Given the description of an element on the screen output the (x, y) to click on. 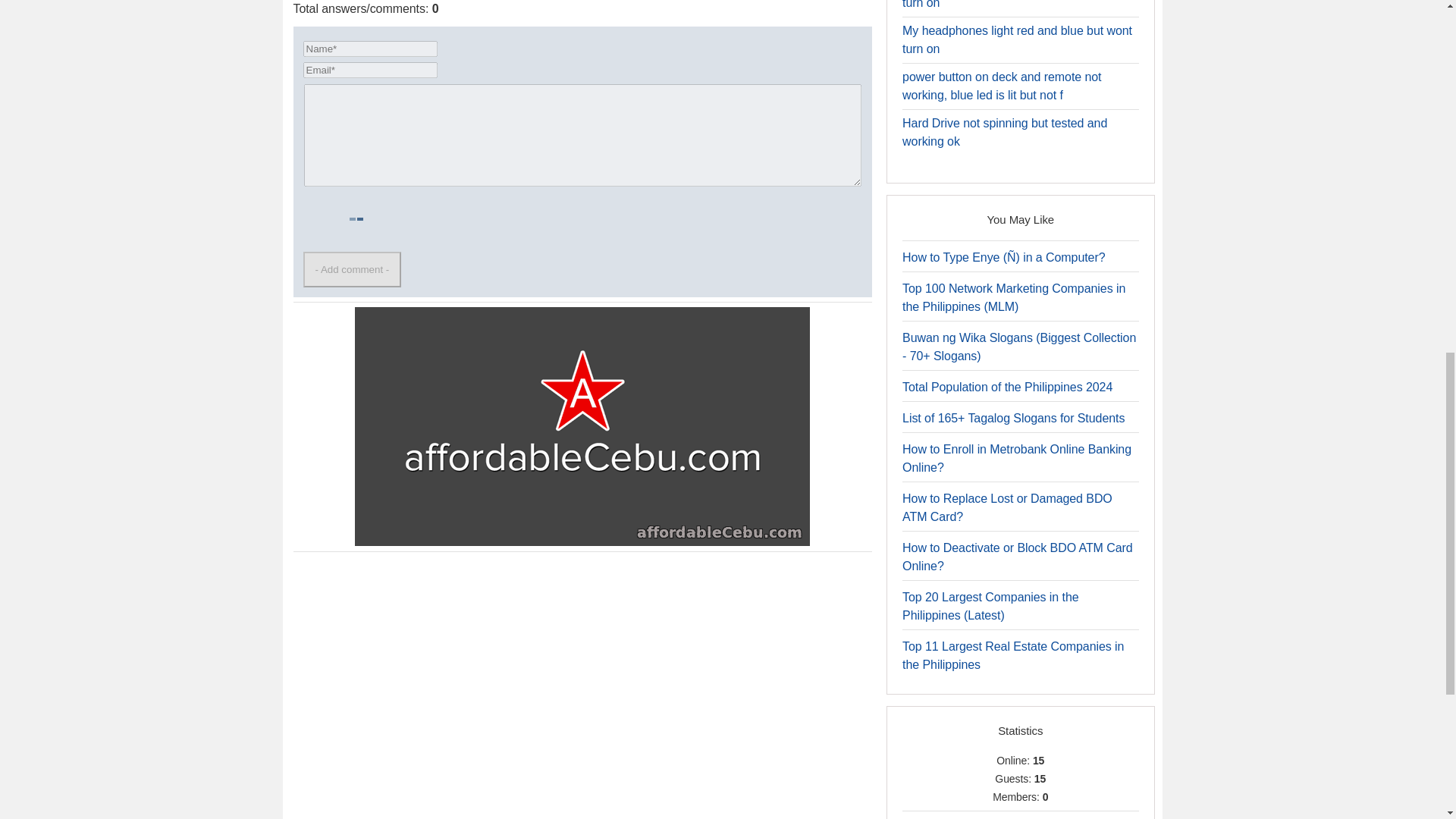
How to Deactivate or Block BDO ATM Card Online? (1017, 556)
Hard Drive not spinning but tested and working ok (1004, 132)
My headphones light red and blue but wont turn on (1017, 4)
How to Replace Lost or Damaged BDO ATM Card? (1007, 507)
How to Enroll in Metrobank Online Banking Online? (1016, 458)
Total Population of the Philippines 2024 (1007, 386)
How to Deactivate or Block BDO ATM Card Online? (1017, 556)
My headphones light red and blue but wont turn on (1017, 39)
Top 11 Largest Real Estate Companies in the Philippines (1013, 654)
Top 11 Largest Real Estate Companies in the Philippines (1013, 654)
How to Replace Lost or Damaged BDO ATM Card? (1007, 507)
- Add comment - (351, 269)
- Add comment - (351, 269)
Total Population of the Philippines 2024 (1007, 386)
